Given the description of an element on the screen output the (x, y) to click on. 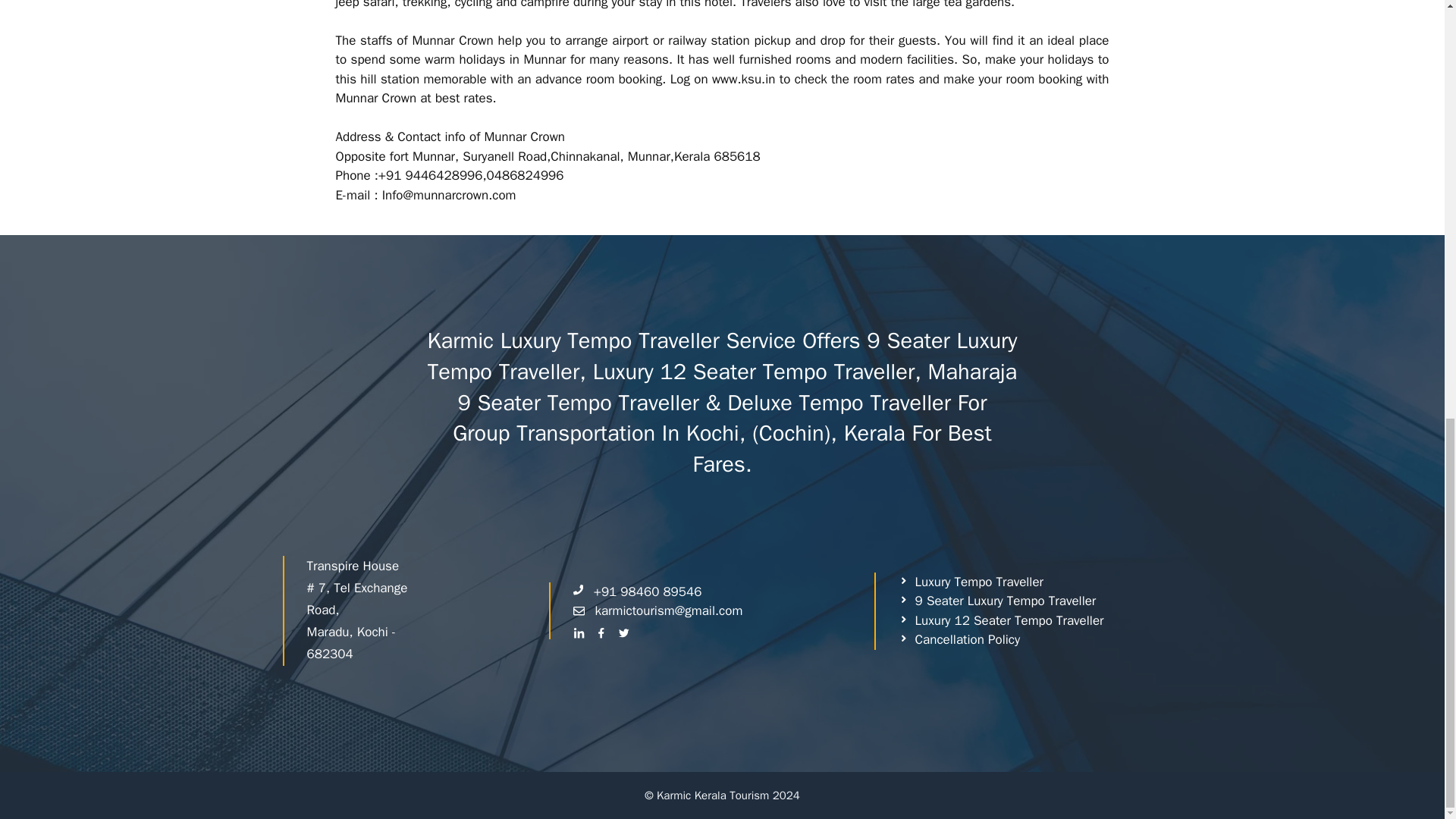
Cancellation Policy (959, 639)
Luxury Tempo Traveller (970, 582)
Luxury 12 Seater Tempo Traveller (1000, 620)
9 Seater Luxury Tempo Traveller (997, 600)
Scroll back to top (1406, 681)
